Given the description of an element on the screen output the (x, y) to click on. 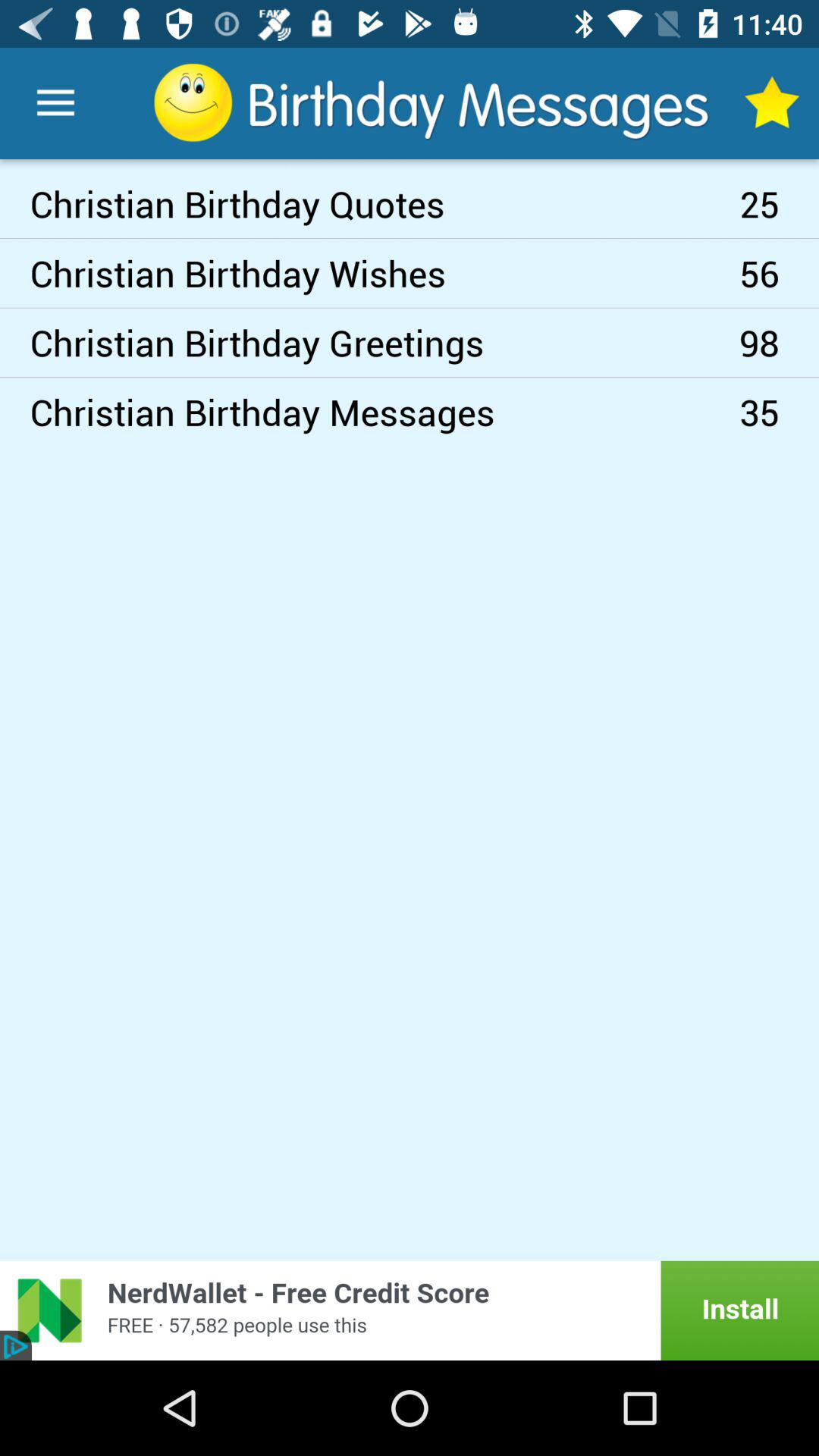
tap the icon above the 56 item (779, 203)
